Given the description of an element on the screen output the (x, y) to click on. 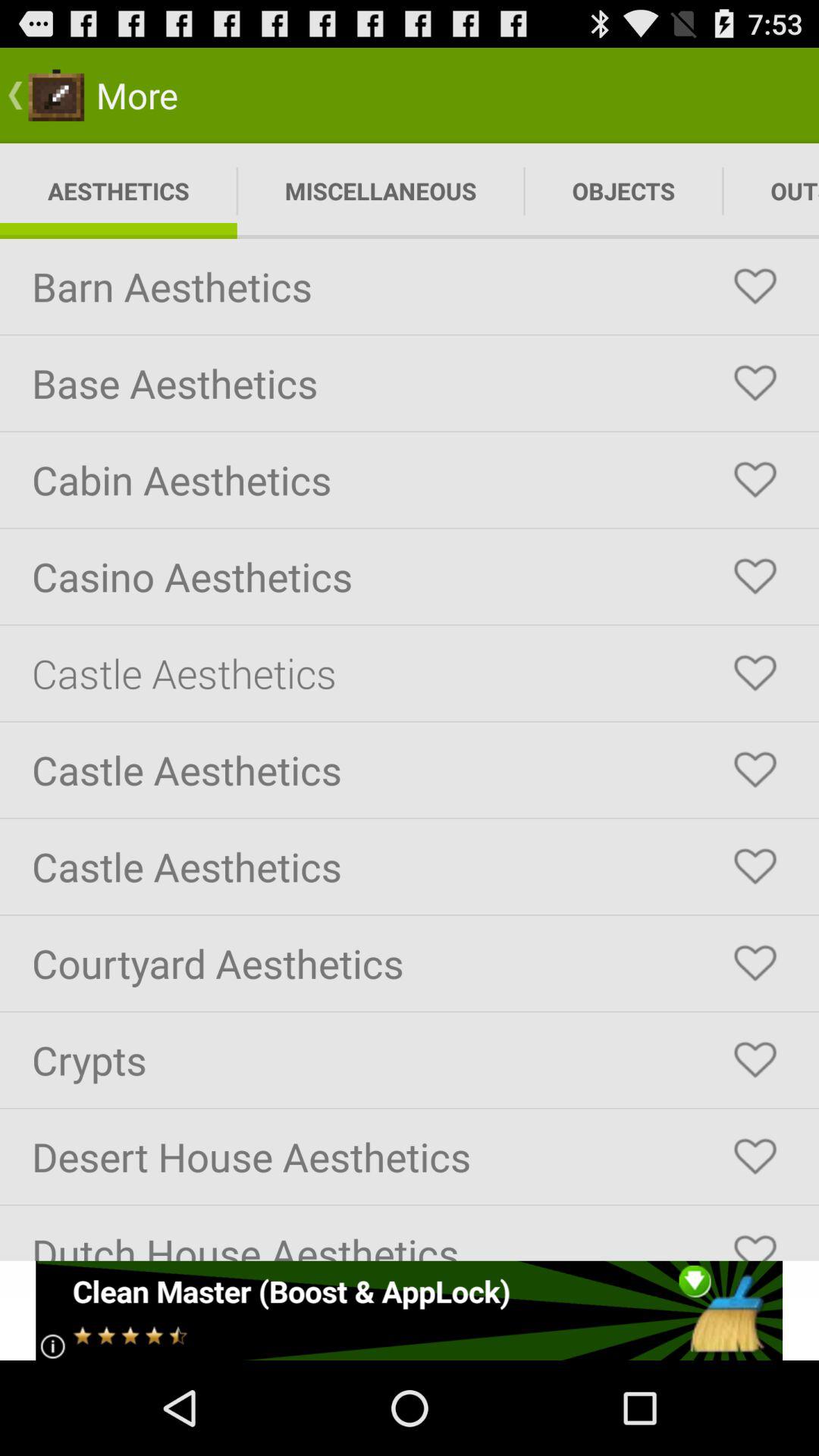
favorite item (755, 479)
